Given the description of an element on the screen output the (x, y) to click on. 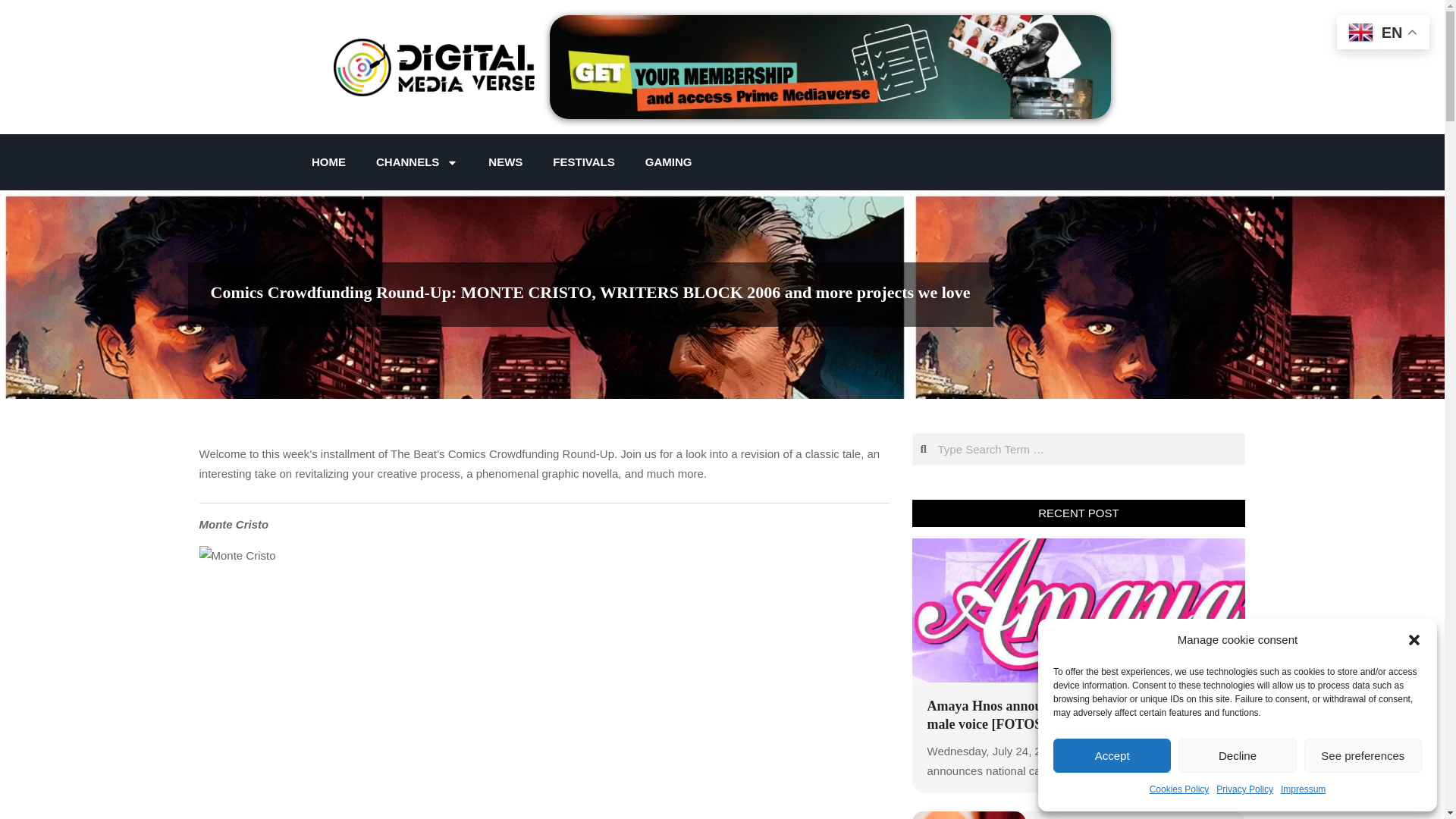
CHANNELS (417, 161)
Privacy Policy (1243, 790)
Decline (1236, 755)
Channels (417, 161)
Impressum (1302, 790)
HOME (329, 161)
See preferences (1363, 755)
FESTIVALS (582, 161)
Cookies Policy (1179, 790)
Accept (1111, 755)
NEWS (505, 161)
GAMING (668, 161)
